Given the description of an element on the screen output the (x, y) to click on. 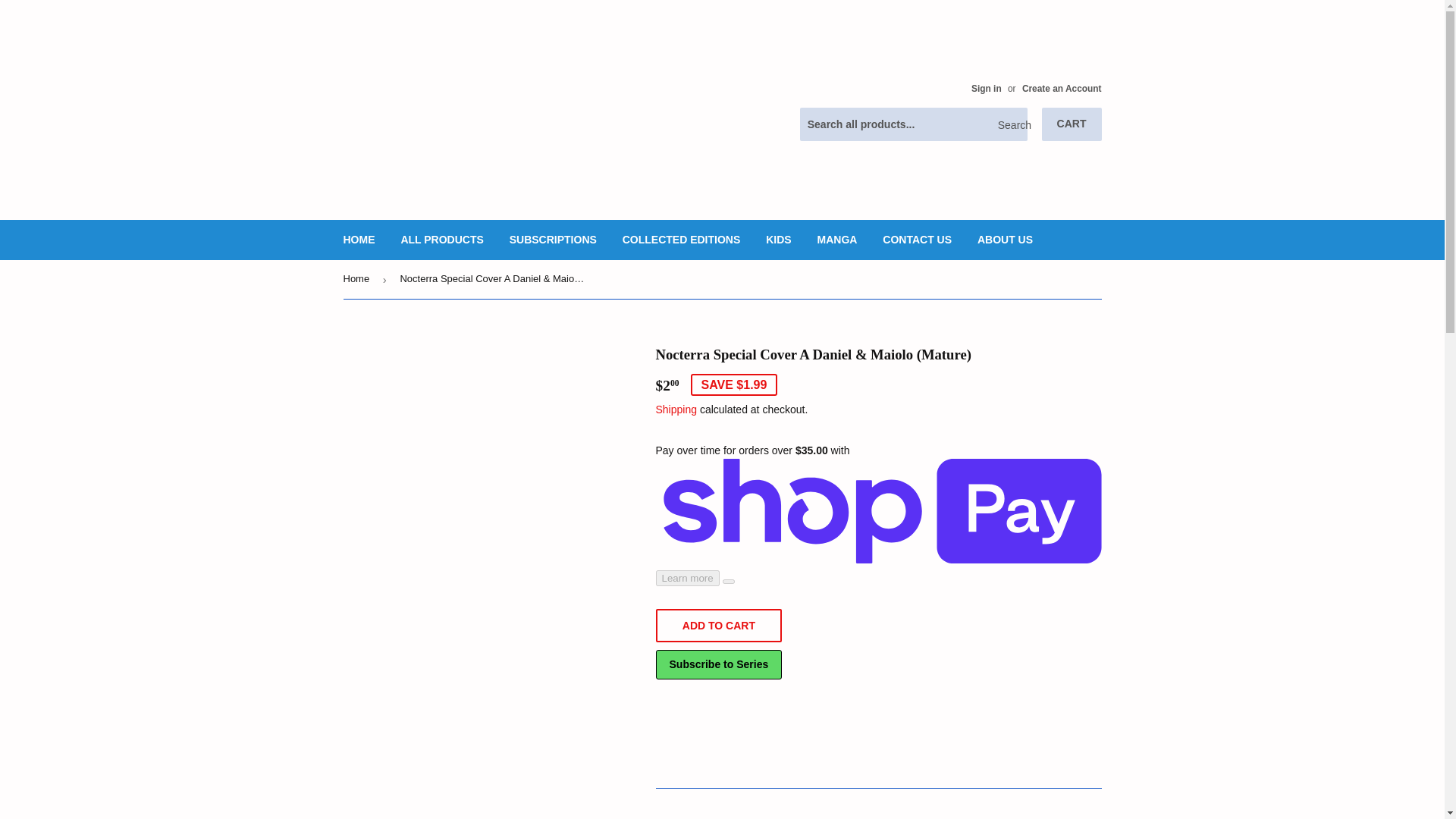
HOME (359, 239)
MANGA (837, 239)
Create an Account (1062, 88)
Search (1009, 124)
Back to the frontpage (358, 279)
ALL PRODUCTS (441, 239)
CART (1072, 123)
ABOUT US (1004, 239)
SUBSCRIPTIONS (552, 239)
Sign in (986, 88)
COLLECTED EDITIONS (681, 239)
CONTACT US (916, 239)
KIDS (778, 239)
